Given the description of an element on the screen output the (x, y) to click on. 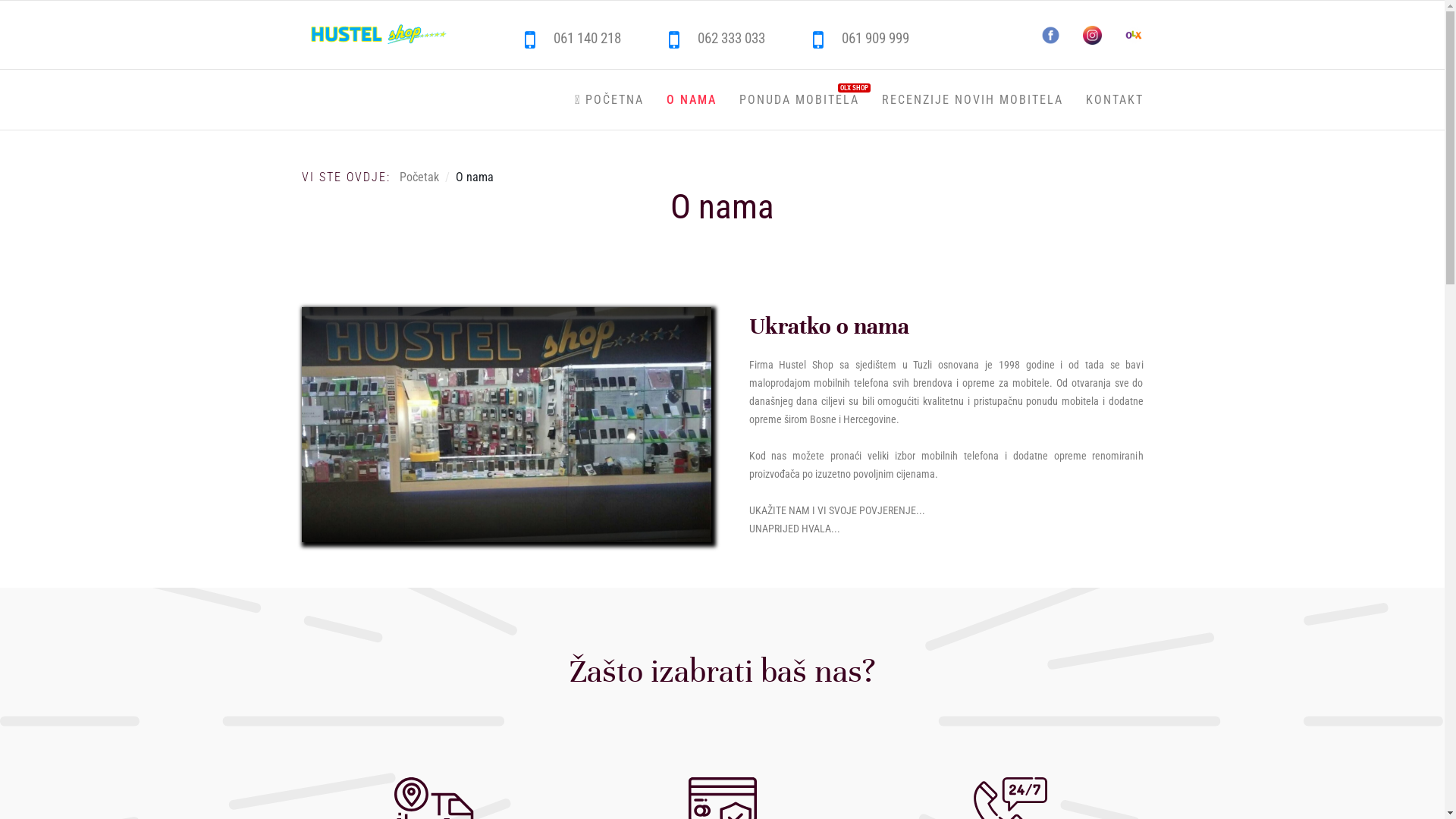
RECENZIJE NOVIH MOBITELA Element type: text (972, 99)
PONUDA MOBITELA
OLX SHOP Element type: text (799, 99)
O NAMA Element type: text (691, 99)
KONTAKT Element type: text (1113, 99)
